Given the description of an element on the screen output the (x, y) to click on. 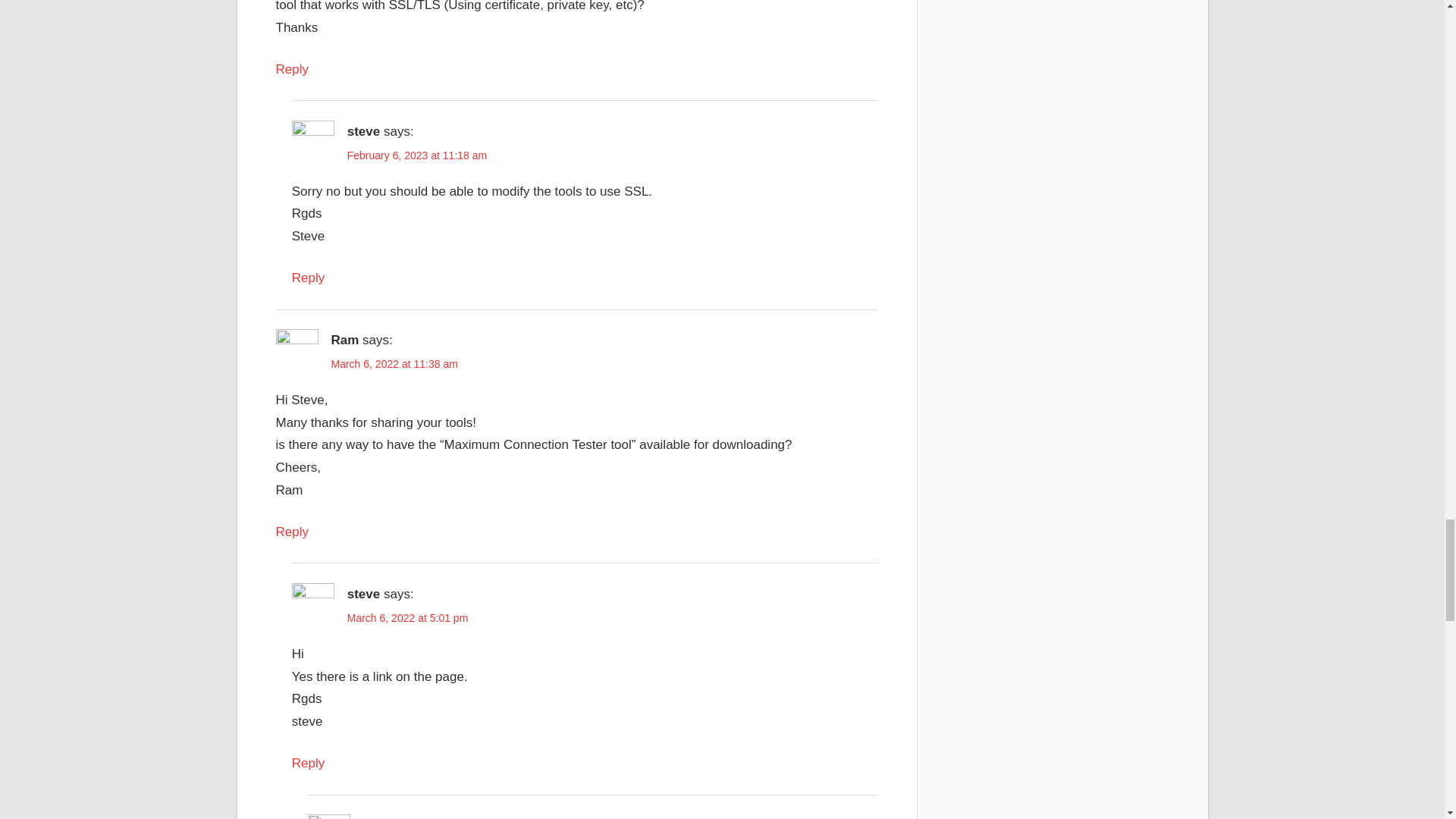
Reply (292, 738)
Reply (308, 342)
Reply (308, 529)
Reply (292, 134)
February 6, 2023 at 8:41 am (397, 614)
December 12, 2023 at 8:03 pm (420, 428)
April 6, 2023 at 1:12 pm (403, 220)
